Given the description of an element on the screen output the (x, y) to click on. 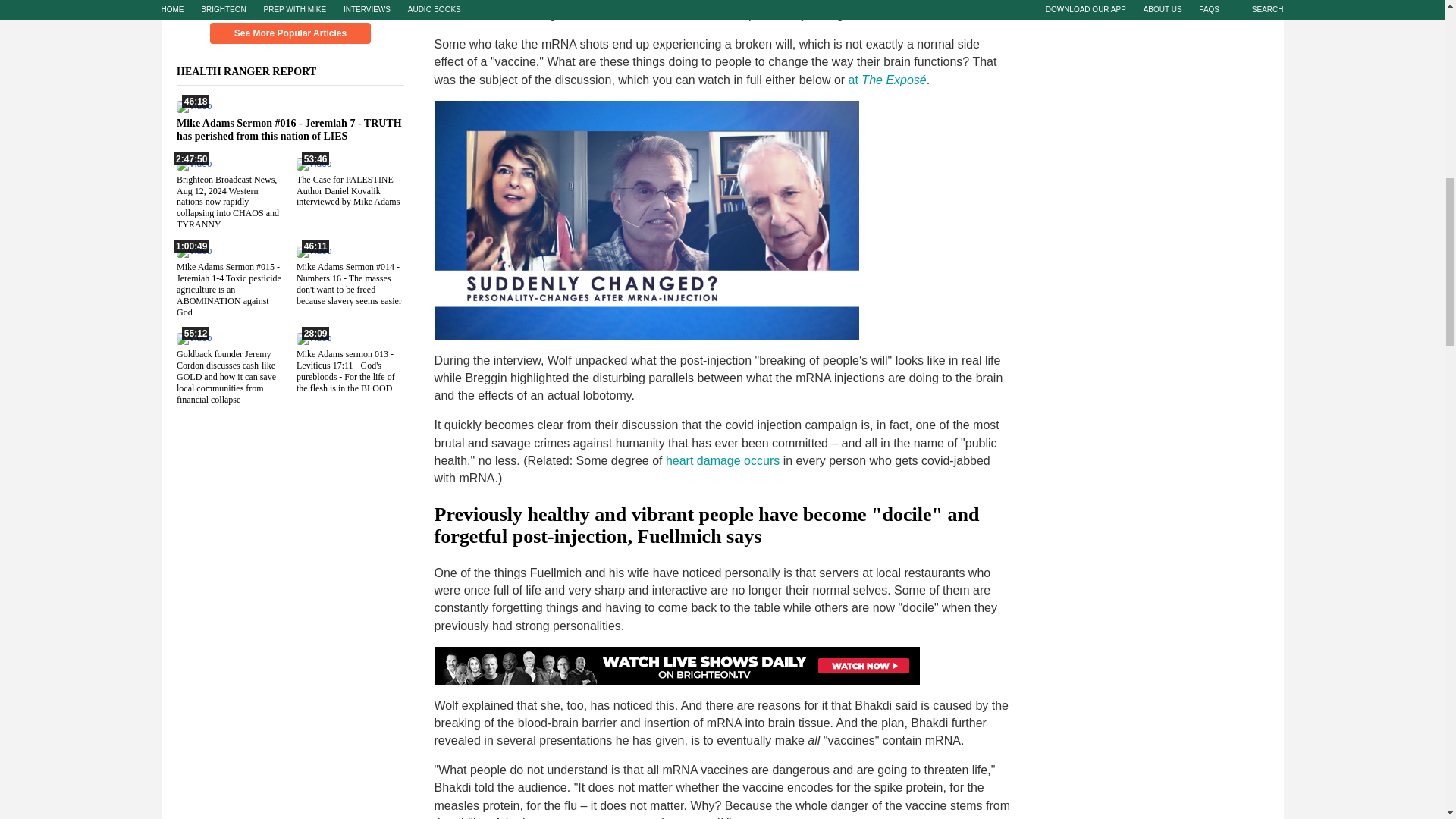
55:12 (193, 337)
Scroll Down (290, 6)
See More Popular Articles (289, 33)
28:09 (312, 337)
2:47:50 (193, 163)
53:46 (312, 163)
